Given the description of an element on the screen output the (x, y) to click on. 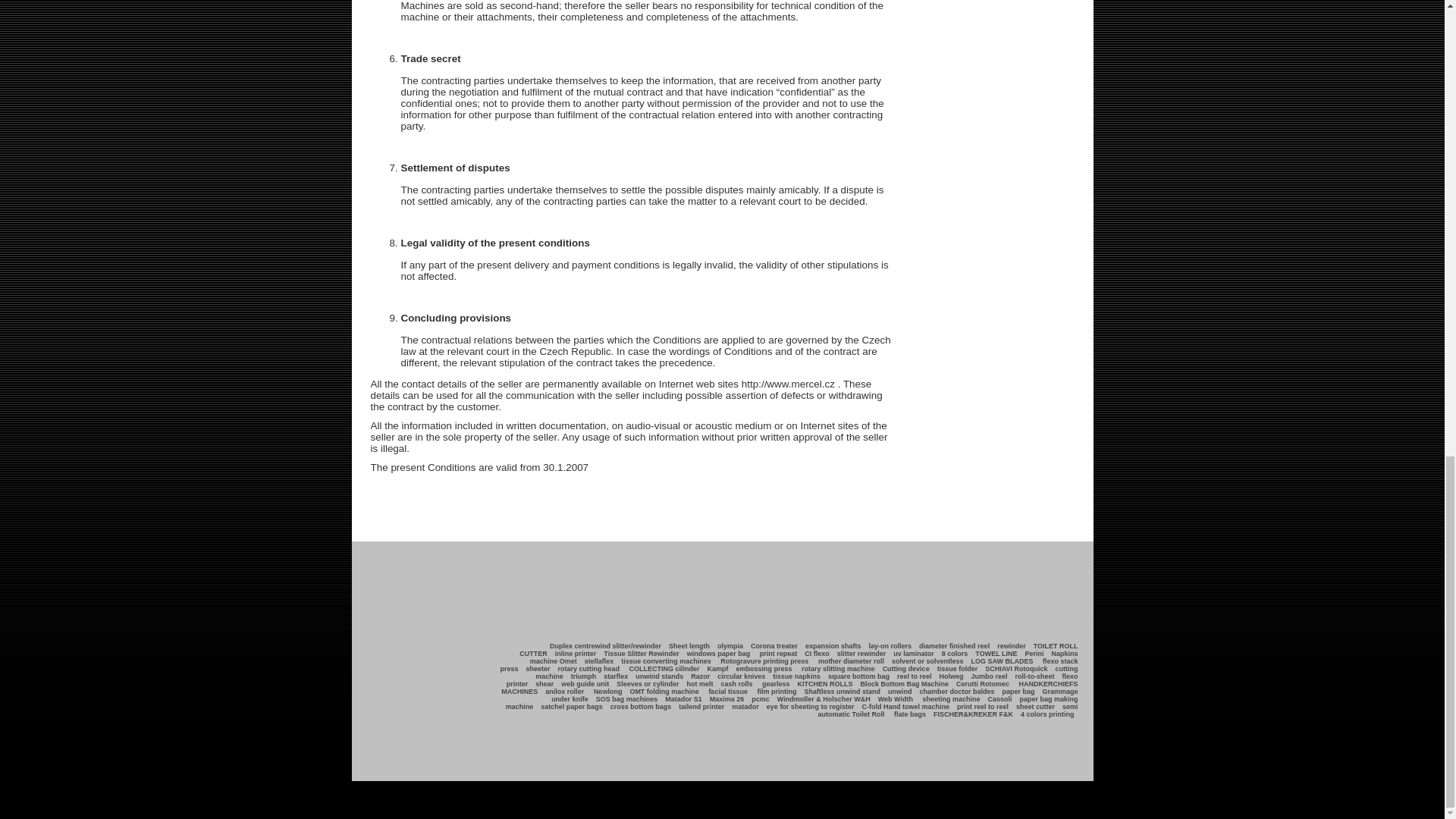
inline printer (575, 653)
Sheet length (689, 646)
TOILET ROLL CUTTER (798, 649)
rewinder (1010, 646)
print repeat (778, 653)
olympia (729, 646)
CI flexo (816, 653)
Corona treater (774, 646)
lay-on rollers (889, 646)
diameter finished reel (953, 646)
slitter rewinder (860, 653)
Tissue Slitter Rewinder (640, 653)
expansion shafts (833, 646)
windows paper bag (718, 653)
